Given the description of an element on the screen output the (x, y) to click on. 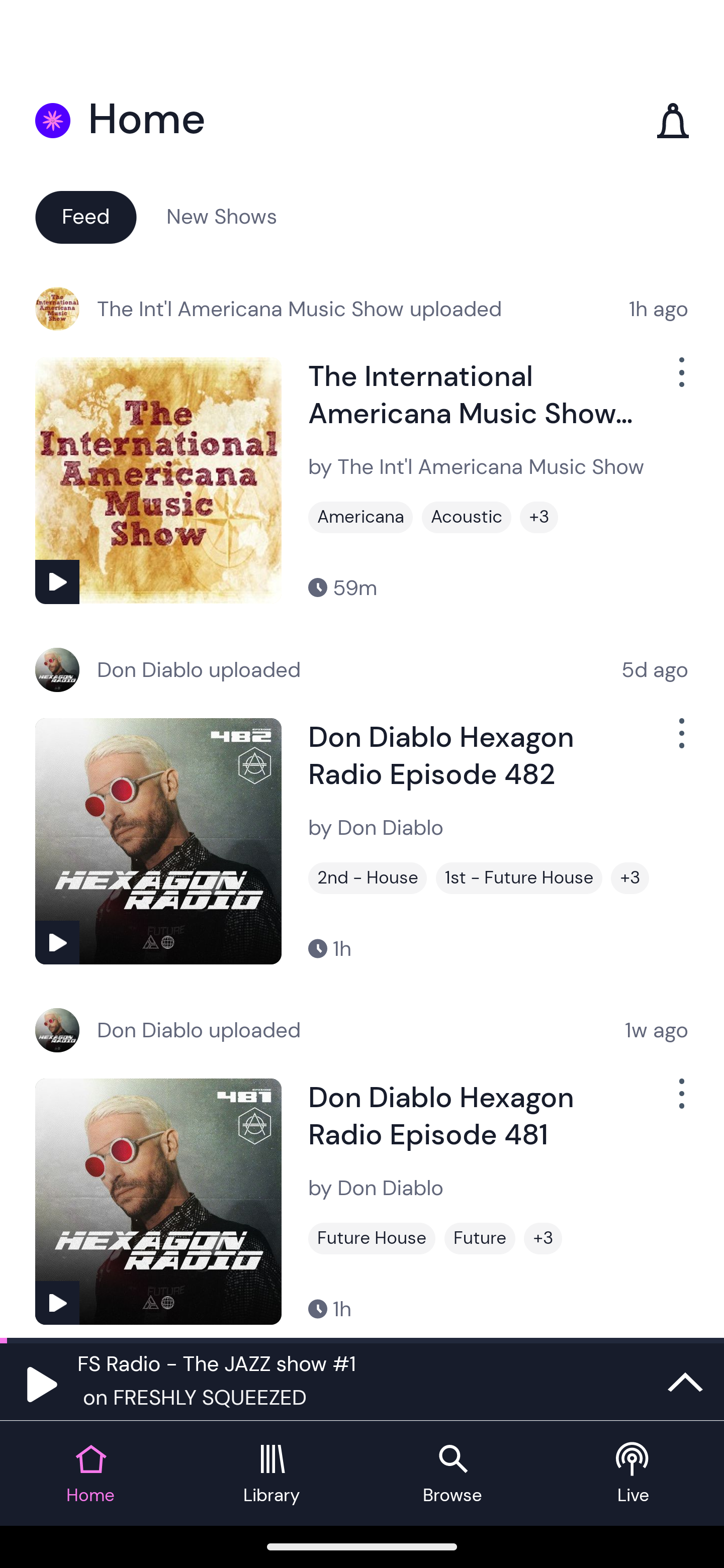
Feed (85, 216)
New Shows (221, 216)
Show Options Menu Button (679, 379)
Americana (360, 517)
Acoustic (466, 517)
Show Options Menu Button (679, 740)
2nd - House (367, 877)
1st - Future House (518, 877)
Show Options Menu Button (679, 1101)
Future House (371, 1238)
Future (479, 1238)
Home tab Home (90, 1473)
Library tab Library (271, 1473)
Browse tab Browse (452, 1473)
Live tab Live (633, 1473)
